Given the description of an element on the screen output the (x, y) to click on. 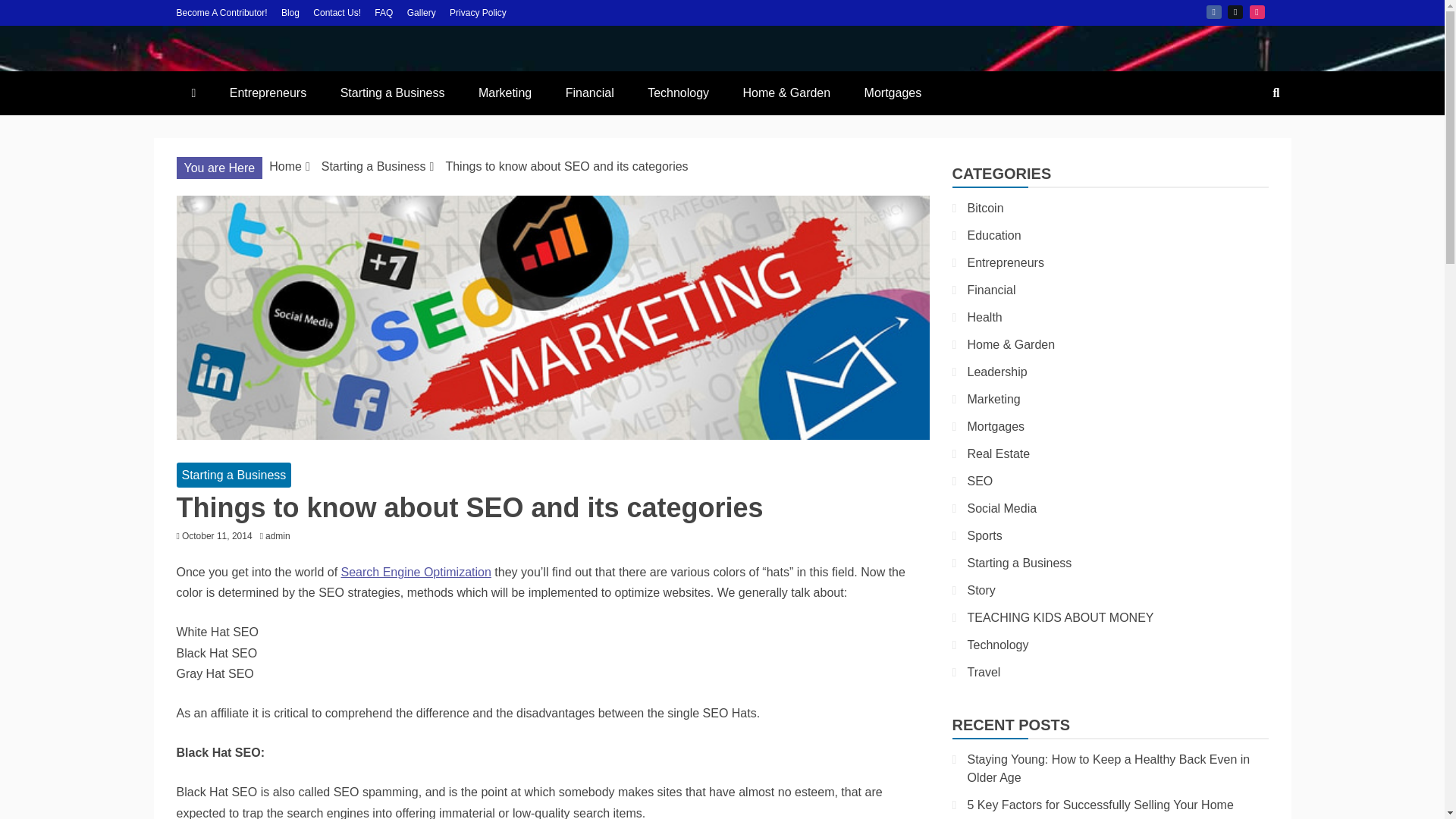
Search Engine Optimization (416, 571)
Gallery (421, 12)
Instagram (1257, 11)
Twitter (1235, 11)
Starting a Business (233, 474)
Facebook (1214, 11)
Home (285, 165)
Entrepreneurs (267, 92)
Marketing (505, 92)
Starting a Business (392, 92)
Contact Us! (337, 12)
Financial (589, 92)
FAQ (383, 12)
Privacy Policy (477, 12)
Technology (677, 92)
